Given the description of an element on the screen output the (x, y) to click on. 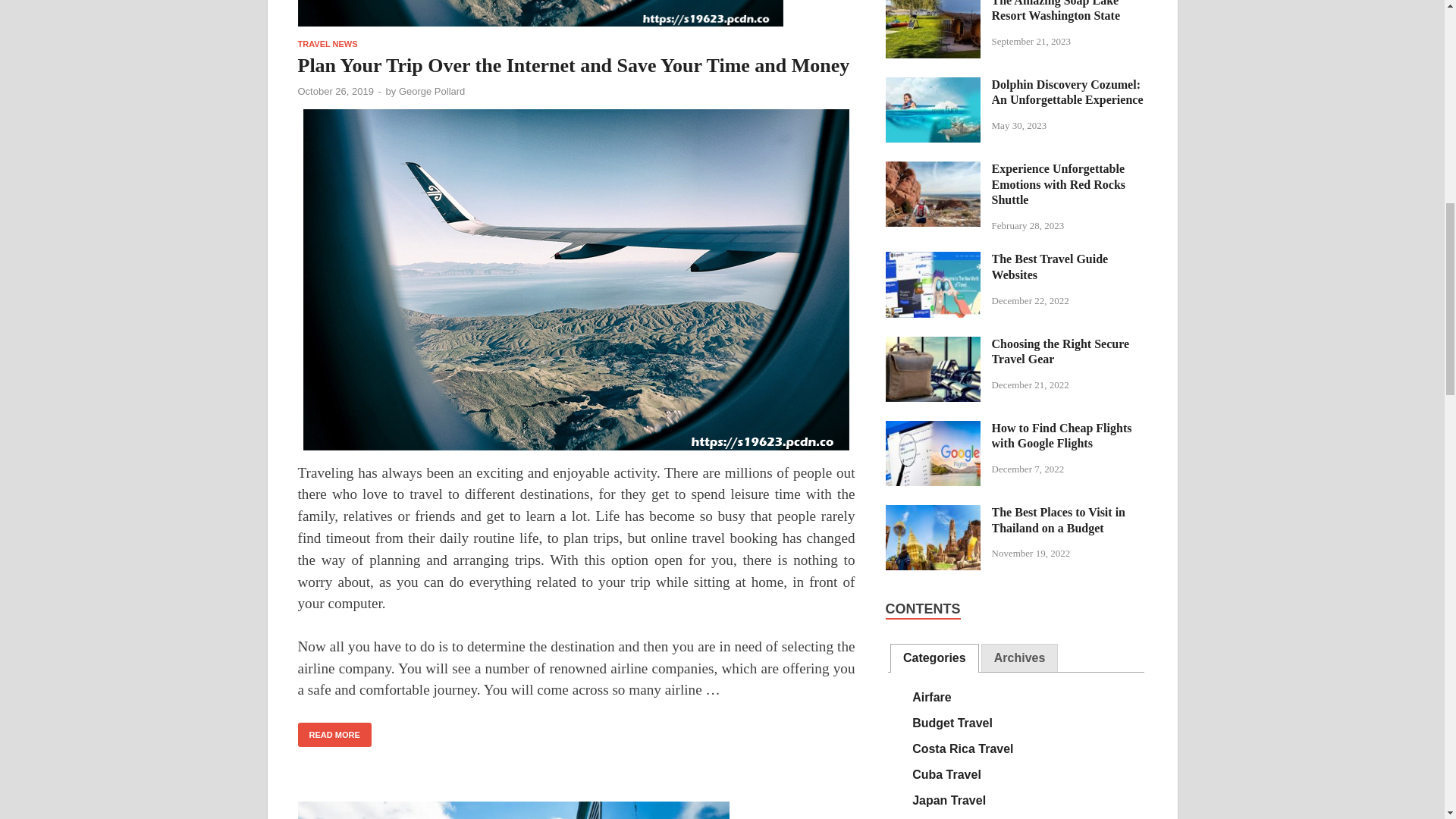
How to Find Cheap Flights with Google Flights (932, 429)
The Best Travel Guide Websites (932, 259)
Experience Unforgettable Emotions with Red Rocks Shuttle (932, 169)
Get Ready to Soar Towards Your Favorite Destination (575, 810)
Choosing the Right Secure Travel Gear (932, 345)
The Best Places to Visit in Thailand on a Budget (932, 513)
The Amazing Soap Lake Resort Washington State (932, 4)
Dolphin Discovery Cozumel: An Unforgettable Experience (932, 85)
